Given the description of an element on the screen output the (x, y) to click on. 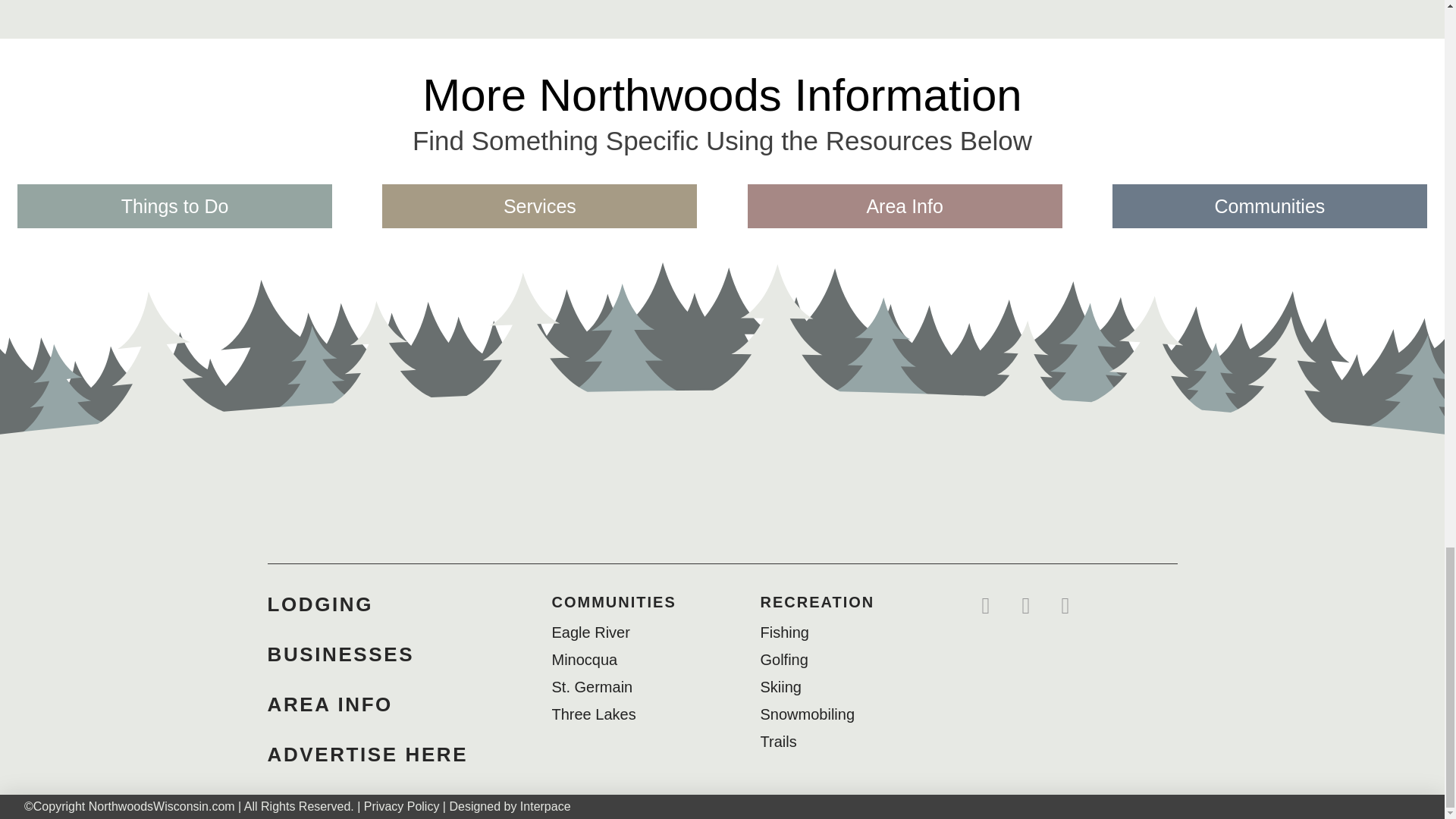
Area Info (905, 206)
Things to Do (174, 206)
Services (539, 206)
BUSINESSES (339, 653)
Communities (1269, 206)
LODGING (319, 603)
AREA INFO (328, 703)
ADVERTISE HERE (366, 753)
